Given the description of an element on the screen output the (x, y) to click on. 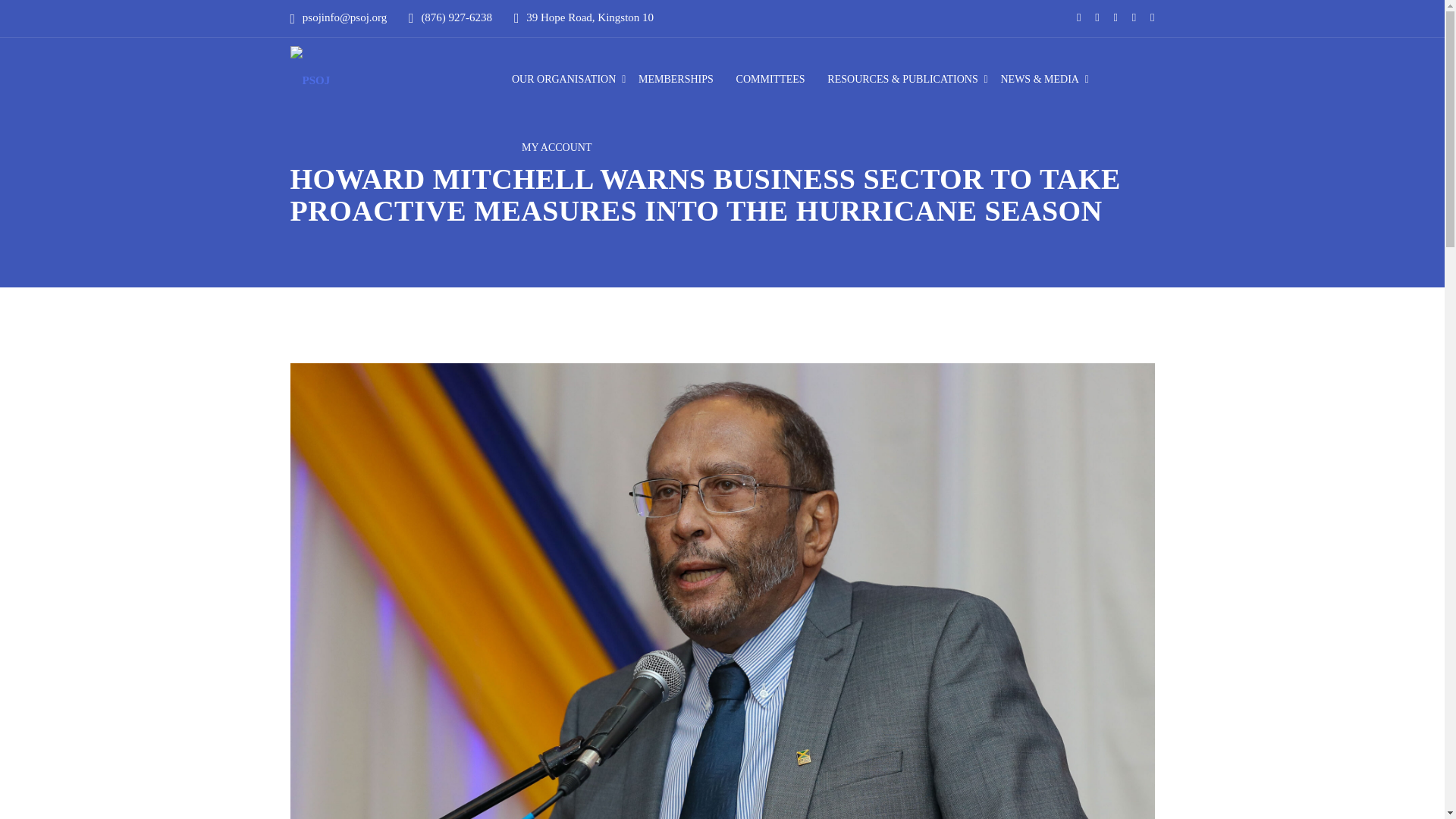
COMMITTEES (770, 79)
OUR ORGANISATION (563, 79)
MEMBERSHIPS (676, 79)
